Given the description of an element on the screen output the (x, y) to click on. 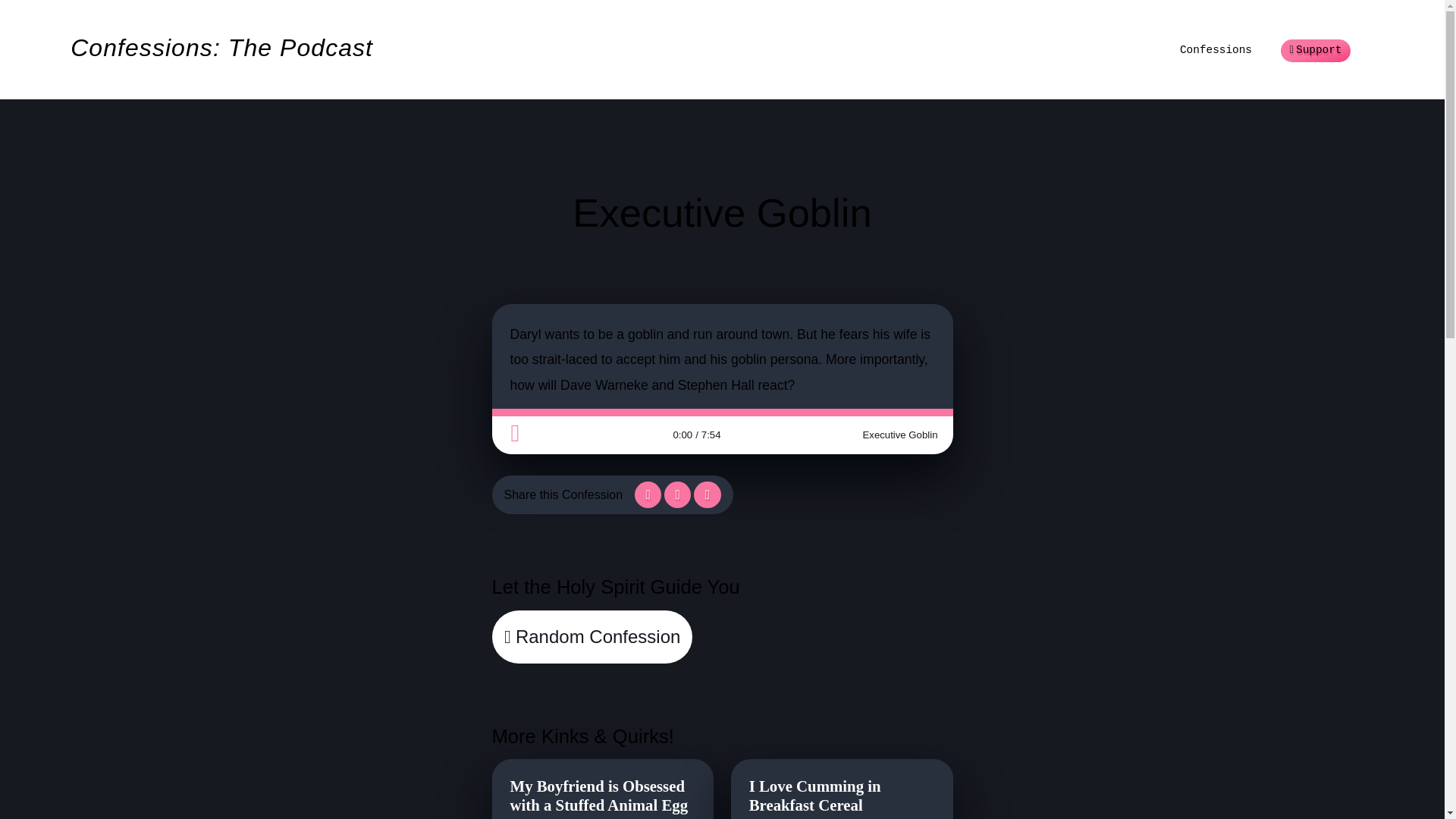
Random Confession (592, 636)
My Boyfriend is Obsessed with a Stuffed Animal Egg (602, 795)
Confessions: The Podcast (220, 49)
Support (1315, 51)
I Love Cumming in Breakfast Cereal (841, 795)
Confessions (1215, 50)
